Given the description of an element on the screen output the (x, y) to click on. 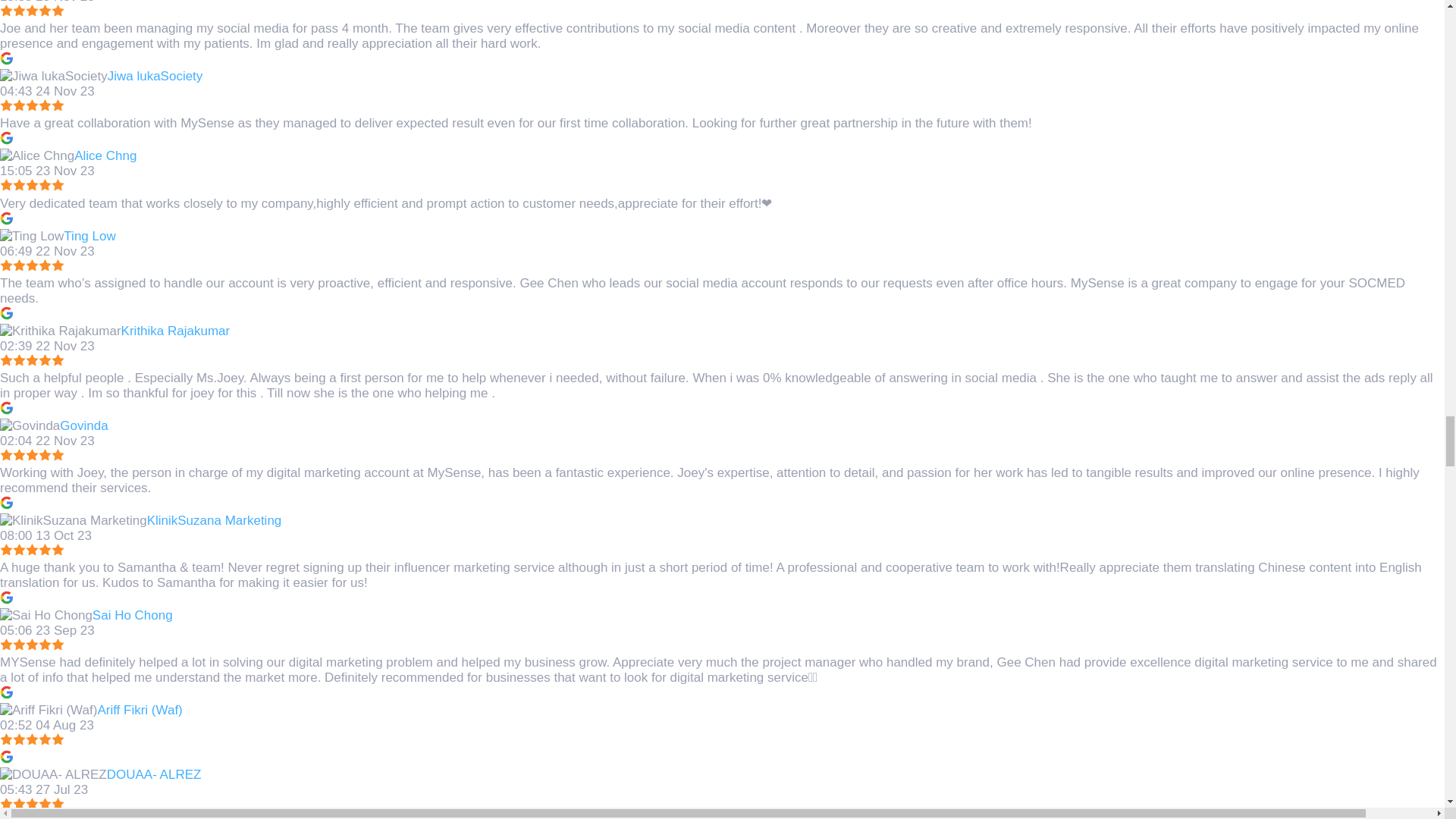
Jiwa lukaSociety (53, 76)
Govinda (29, 426)
Alice Chng (37, 155)
Krithika Rajakumar (60, 331)
Ting Low (32, 236)
